Given the description of an element on the screen output the (x, y) to click on. 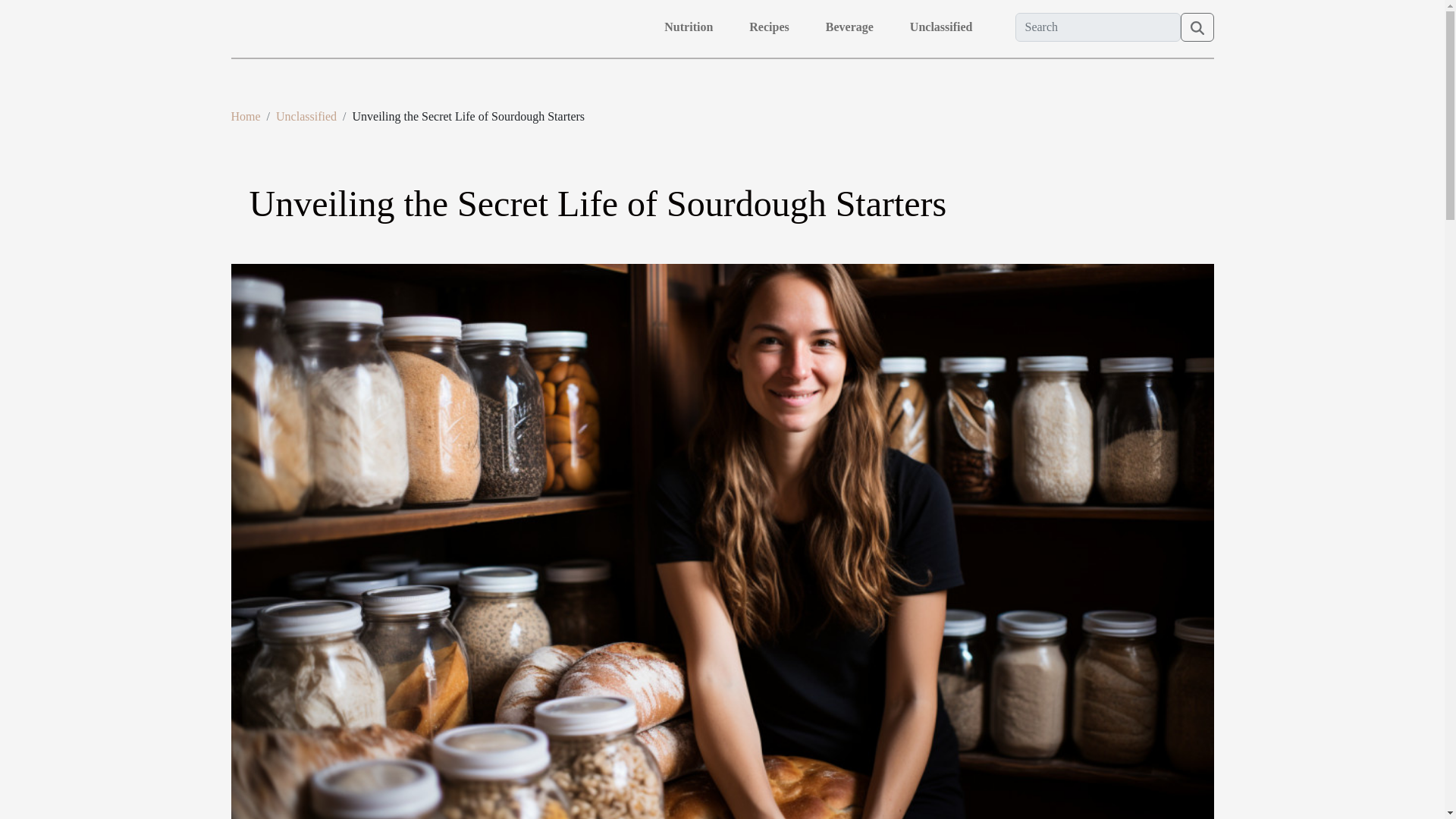
Home (245, 115)
Nutrition (688, 27)
Unclassified (306, 115)
Unclassified (306, 115)
Recipes (768, 27)
Beverage (849, 27)
Unclassified (941, 27)
